Given the description of an element on the screen output the (x, y) to click on. 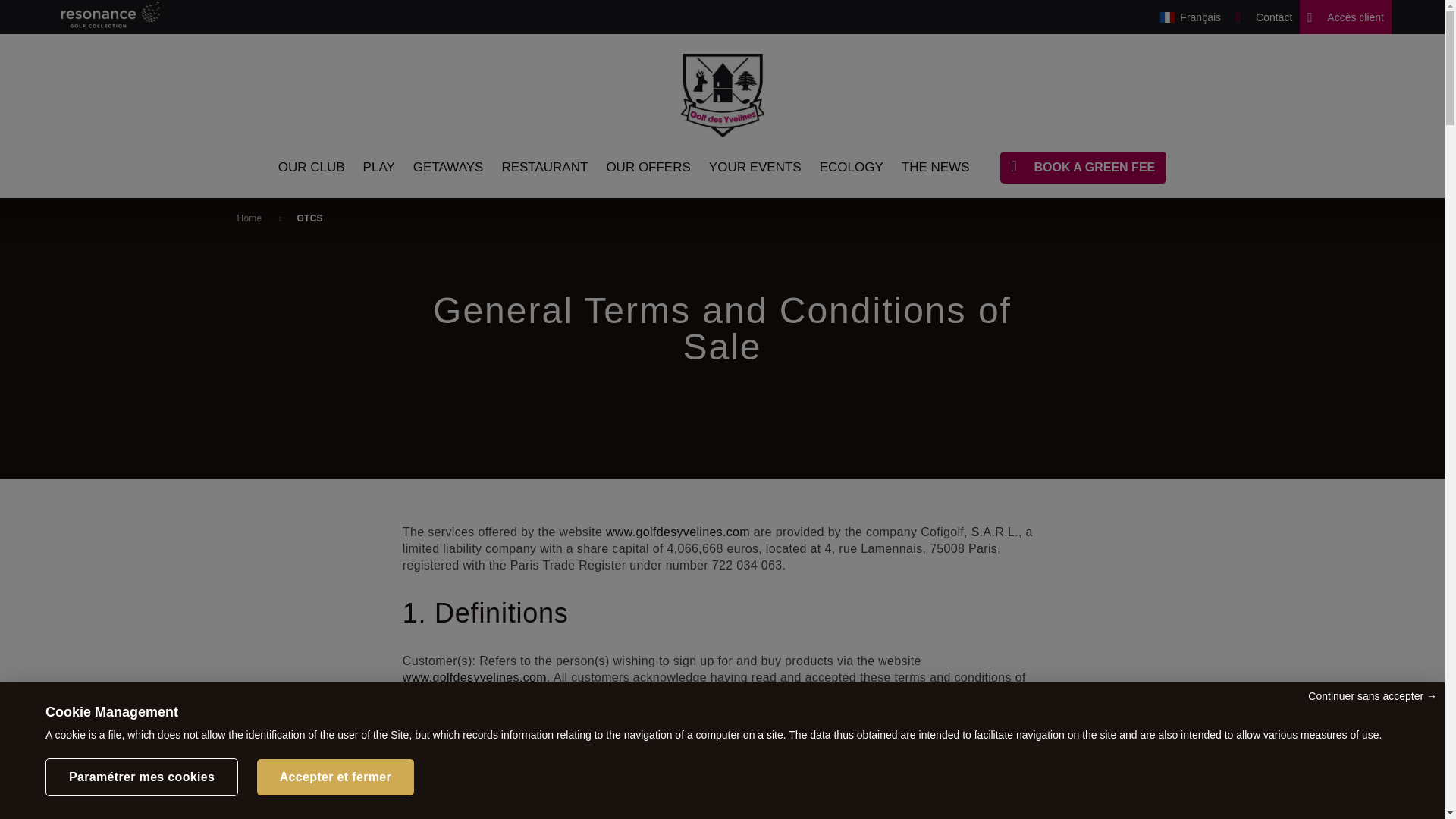
PLAY (378, 167)
GETAWAYS (448, 167)
YOUR EVENTS (755, 167)
RESTAURANT (544, 167)
OUR OFFERS (647, 167)
ECOLOGY (851, 167)
Contact (1264, 16)
OUR CLUB (311, 167)
